Given the description of an element on the screen output the (x, y) to click on. 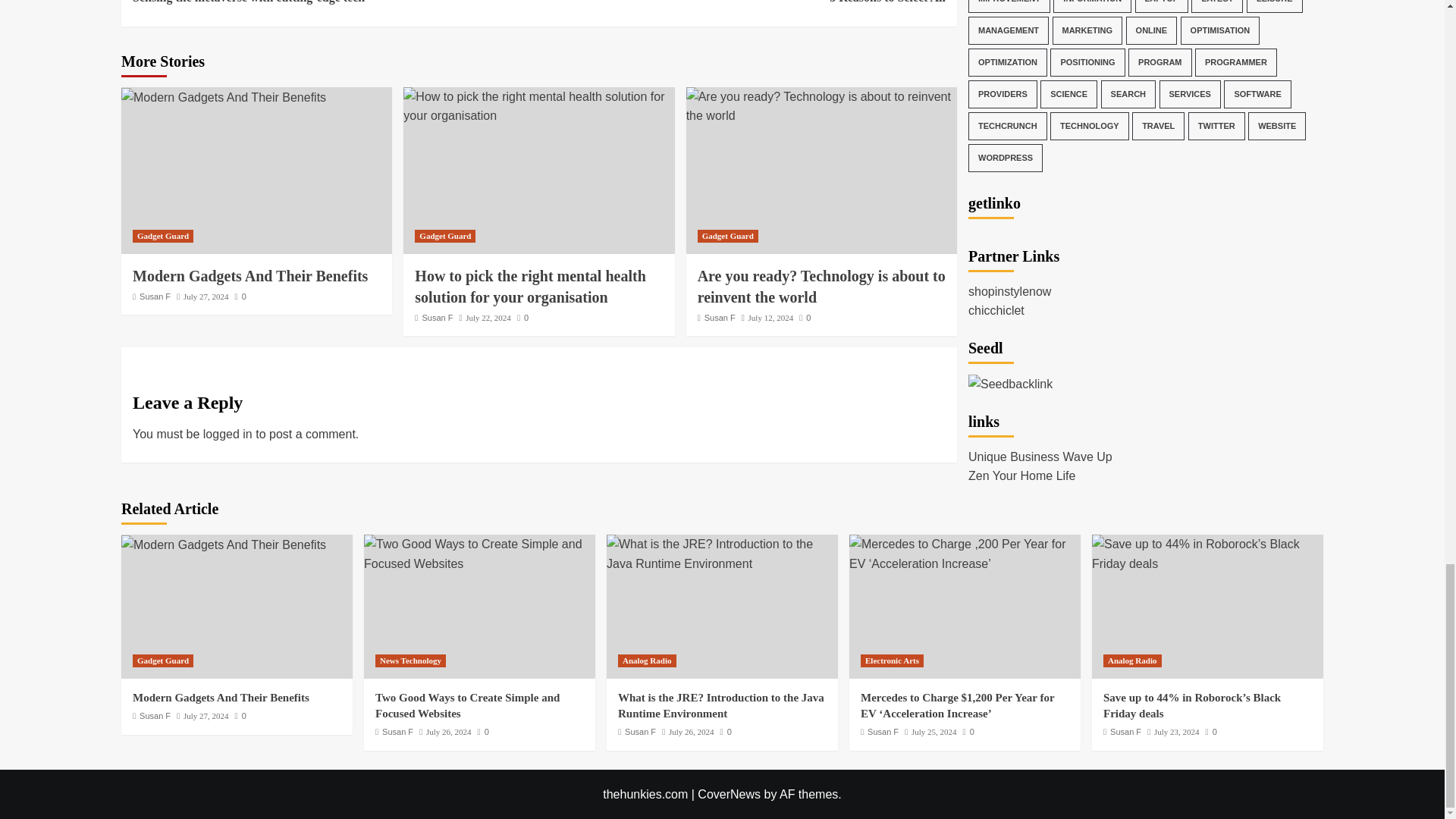
July 27, 2024 (205, 296)
Gadget Guard (162, 236)
Modern Gadgets And Their Benefits (223, 545)
0 (522, 317)
Gadget Guard (741, 3)
Are you ready? Technology is about to reinvent the world (727, 236)
Susan F (820, 286)
Modern Gadgets And Their Benefits (437, 317)
Gadget Guard (223, 97)
Susan F (335, 3)
Are you ready? Technology is about to reinvent the world (445, 236)
July 22, 2024 (719, 317)
